Given the description of an element on the screen output the (x, y) to click on. 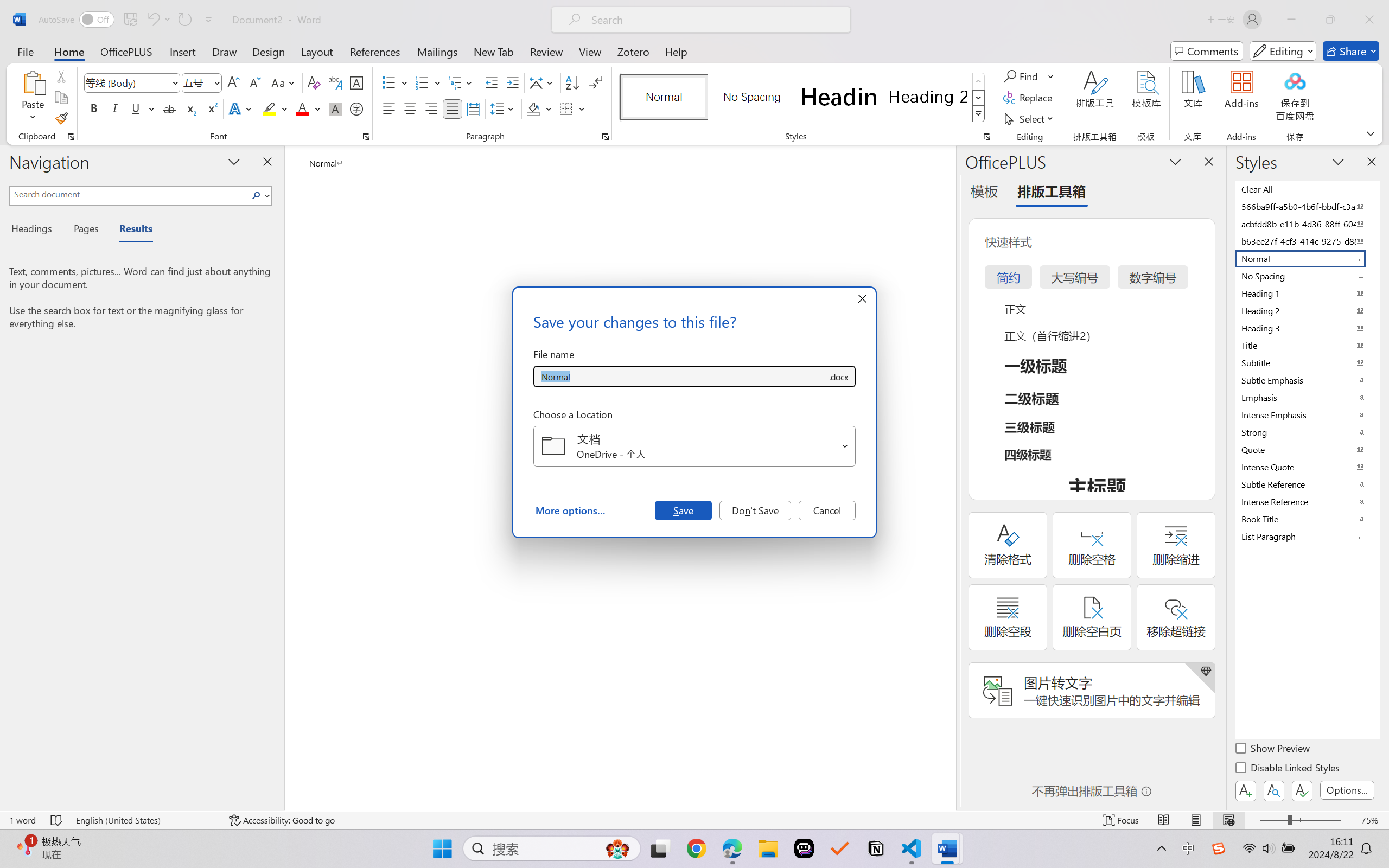
Word Count 1 word (21, 819)
List Paragraph (1306, 536)
Choose a Location (694, 446)
Office Clipboard... (70, 136)
Home (69, 51)
Row Down (978, 97)
566ba9ff-a5b0-4b6f-bbdf-c3ab41993fc2 (1306, 206)
Line and Paragraph Spacing (503, 108)
Strong (1306, 431)
Class: MsoCommandBar (694, 819)
